Given the description of an element on the screen output the (x, y) to click on. 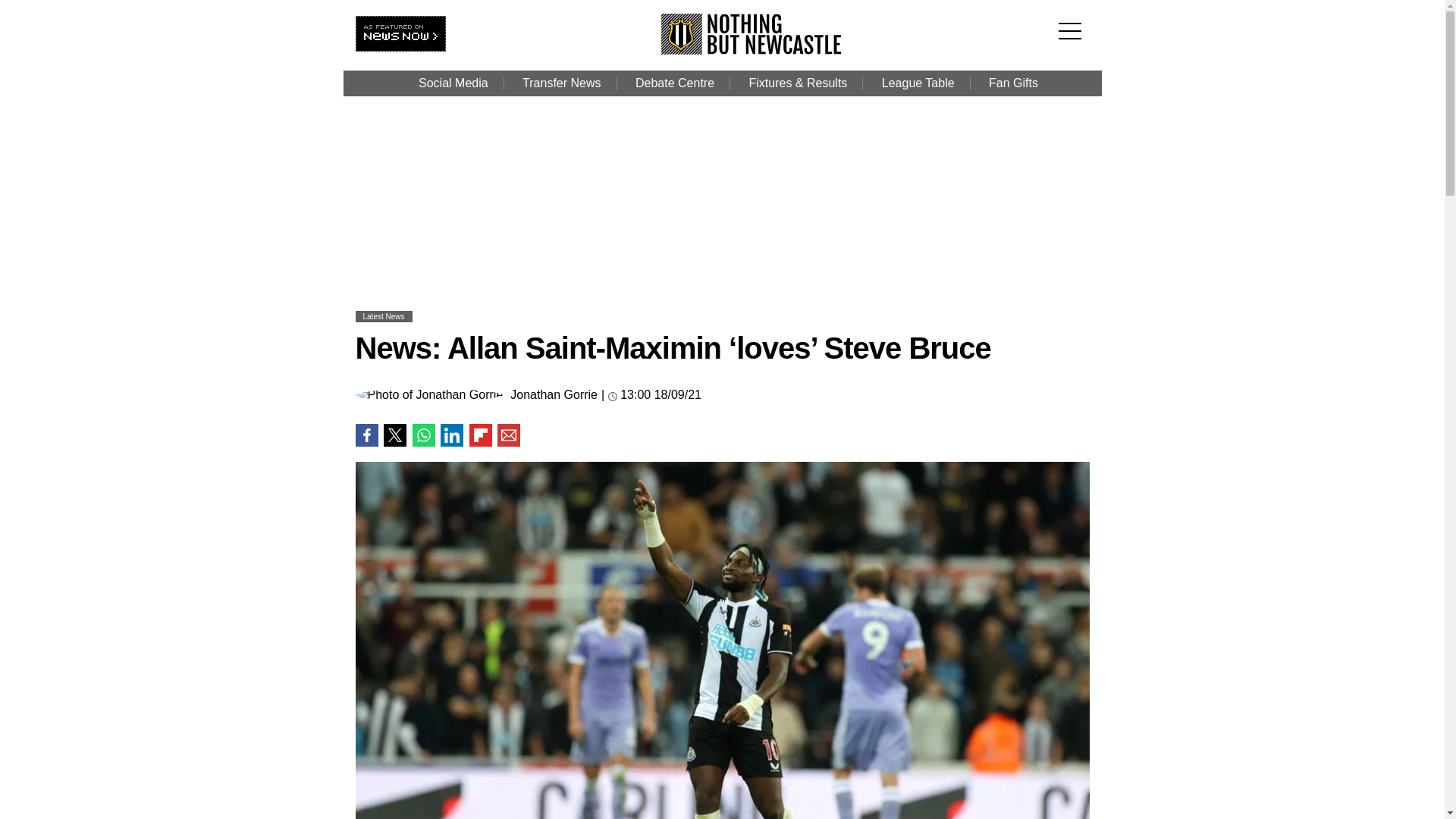
share on Facebook (366, 435)
Transfer News (560, 83)
Social Media (453, 83)
League Table (917, 83)
share on Email (508, 435)
share on Twitter (395, 435)
Debate Centre (674, 83)
share on WhatsApp (423, 435)
Jonathan Gorrie (553, 395)
share on LinkedIn (452, 435)
